Given the description of an element on the screen output the (x, y) to click on. 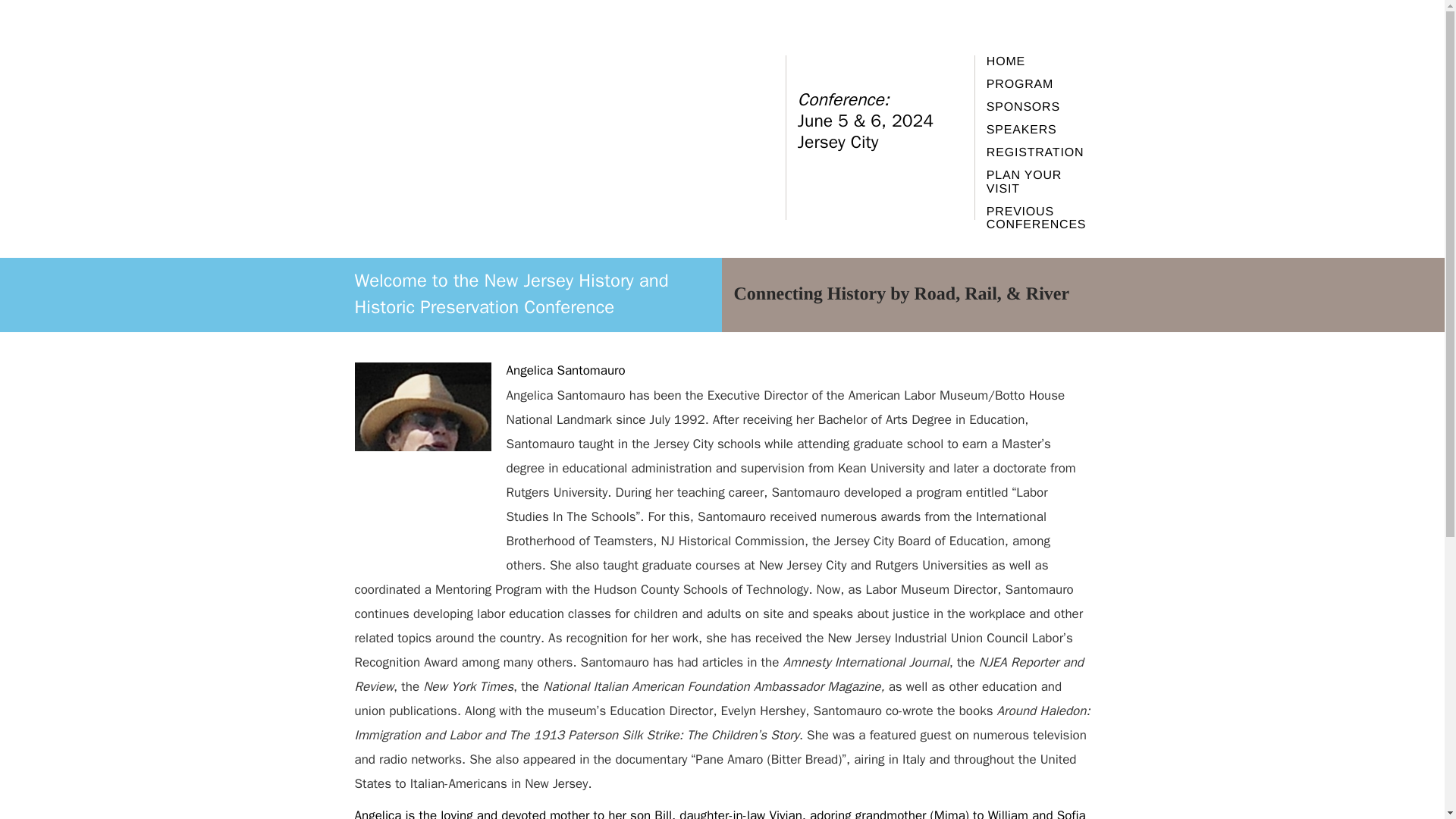
PLAN YOUR VISIT (1038, 182)
PROGRAM (1038, 84)
SPONSORS (1038, 107)
REGISTRATION (1038, 152)
SPEAKERS (1038, 130)
PREVIOUS CONFERENCES (1038, 217)
HOME (1038, 61)
